Given the description of an element on the screen output the (x, y) to click on. 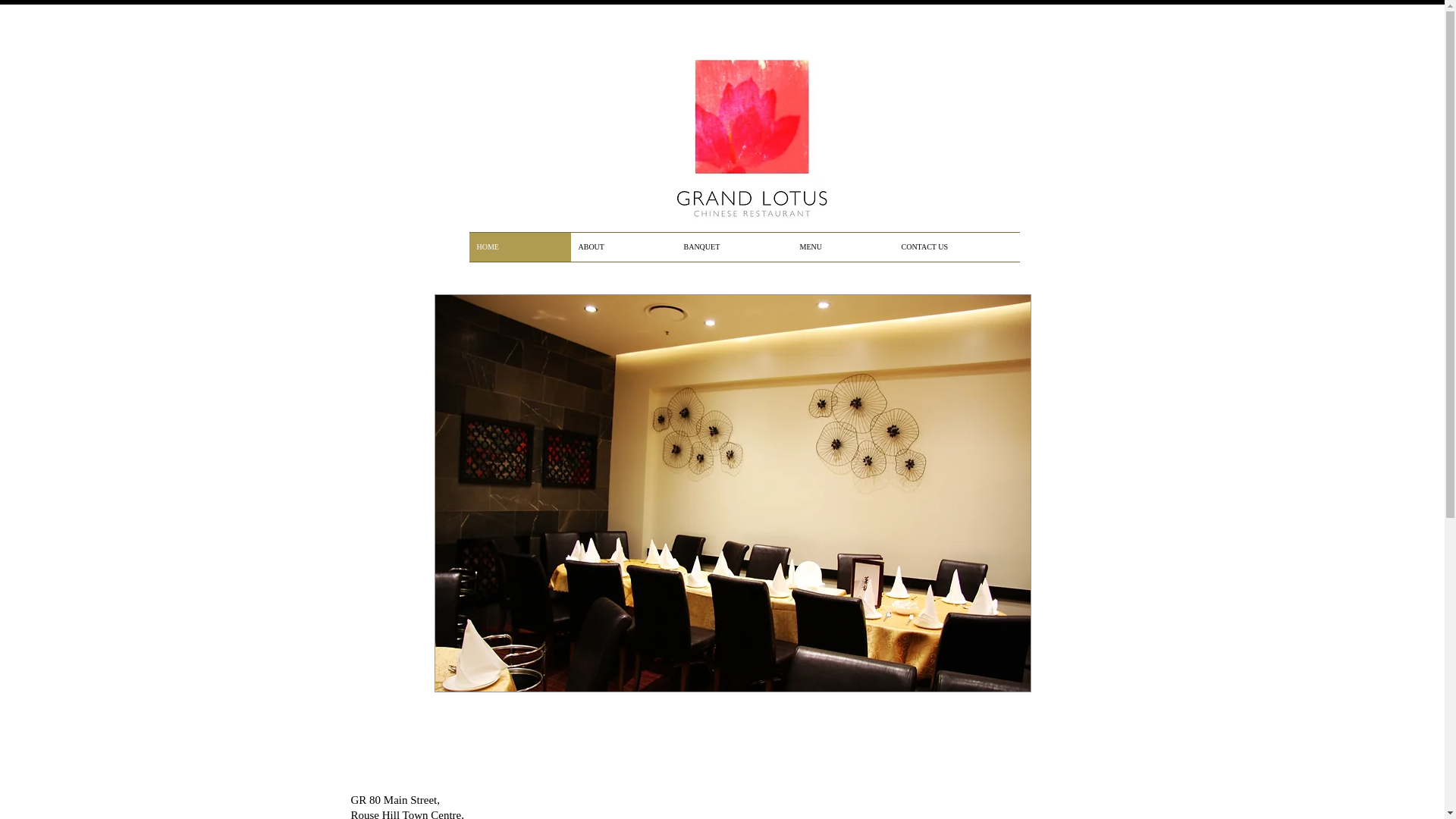
CONTACT US Element type: text (956, 246)
ABOUT Element type: text (622, 246)
MENU Element type: text (842, 246)
BANQUET Element type: text (734, 246)
HOME Element type: text (519, 246)
